Given the description of an element on the screen output the (x, y) to click on. 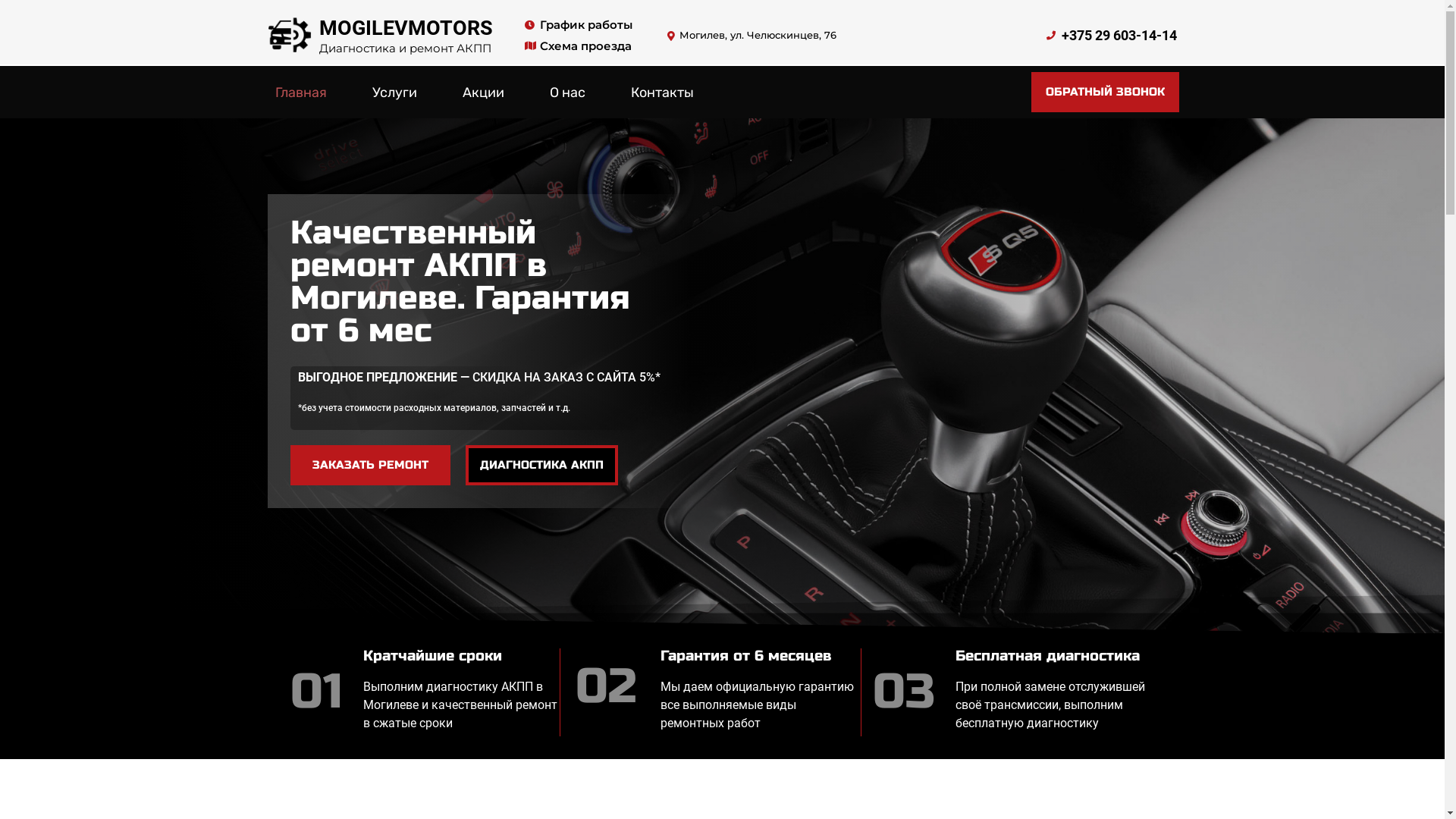
MOGILEVMOTORS Element type: text (405, 27)
+375 29 603-14-14 Element type: text (1100, 35)
